Given the description of an element on the screen output the (x, y) to click on. 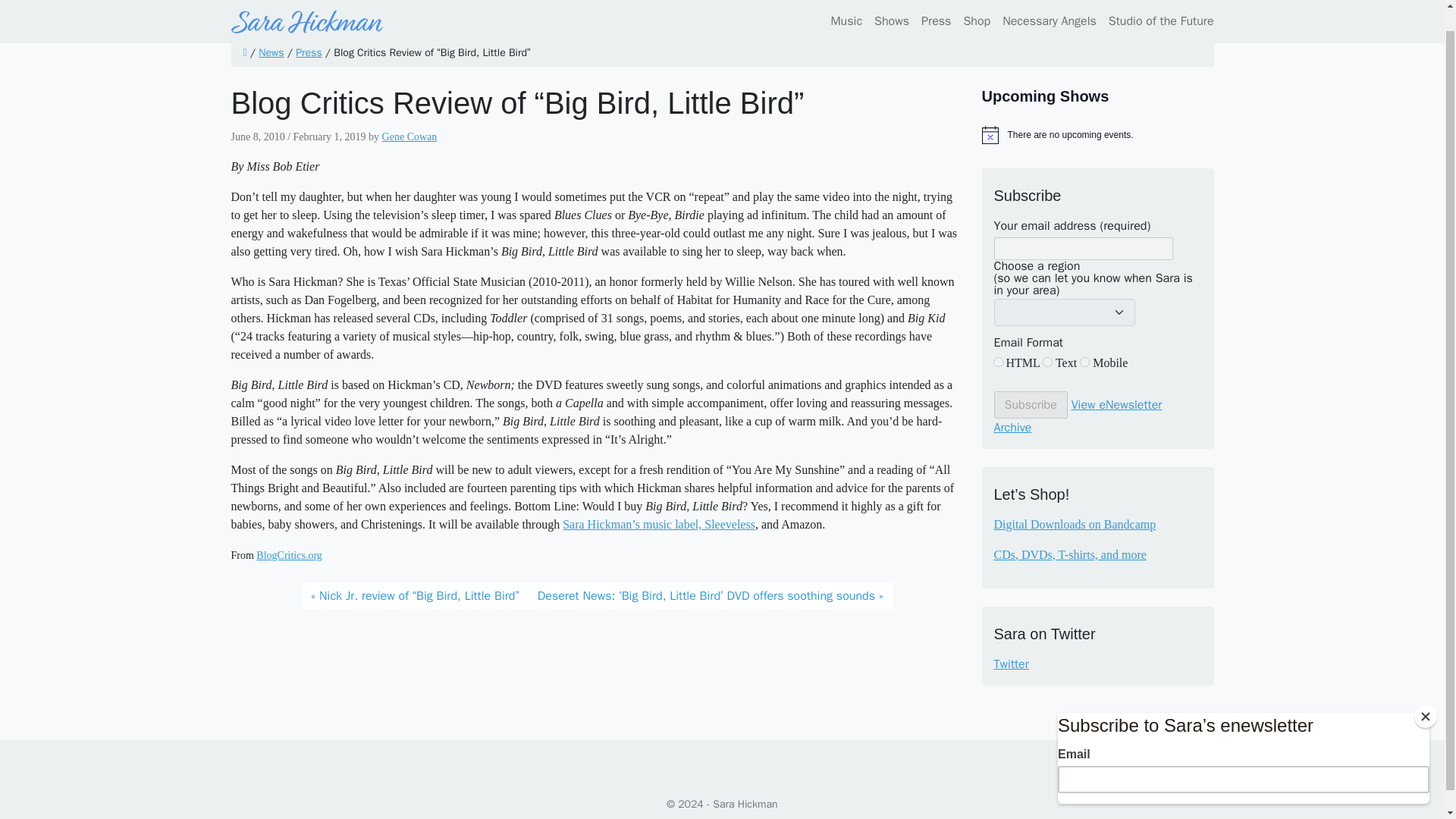
Twitter (1096, 664)
Subscribe (1029, 404)
Subscribe (1029, 404)
Shop (975, 7)
html (997, 361)
BlogCritics.org (288, 555)
Shows (891, 7)
Press (308, 52)
Gene Cowan (409, 136)
BlogCritics.org (288, 555)
View eNewsletter Archive (1076, 415)
CDs, DVDs, T-shirts, and more (1068, 554)
Press (935, 7)
text (1047, 361)
Music (847, 7)
